Given the description of an element on the screen output the (x, y) to click on. 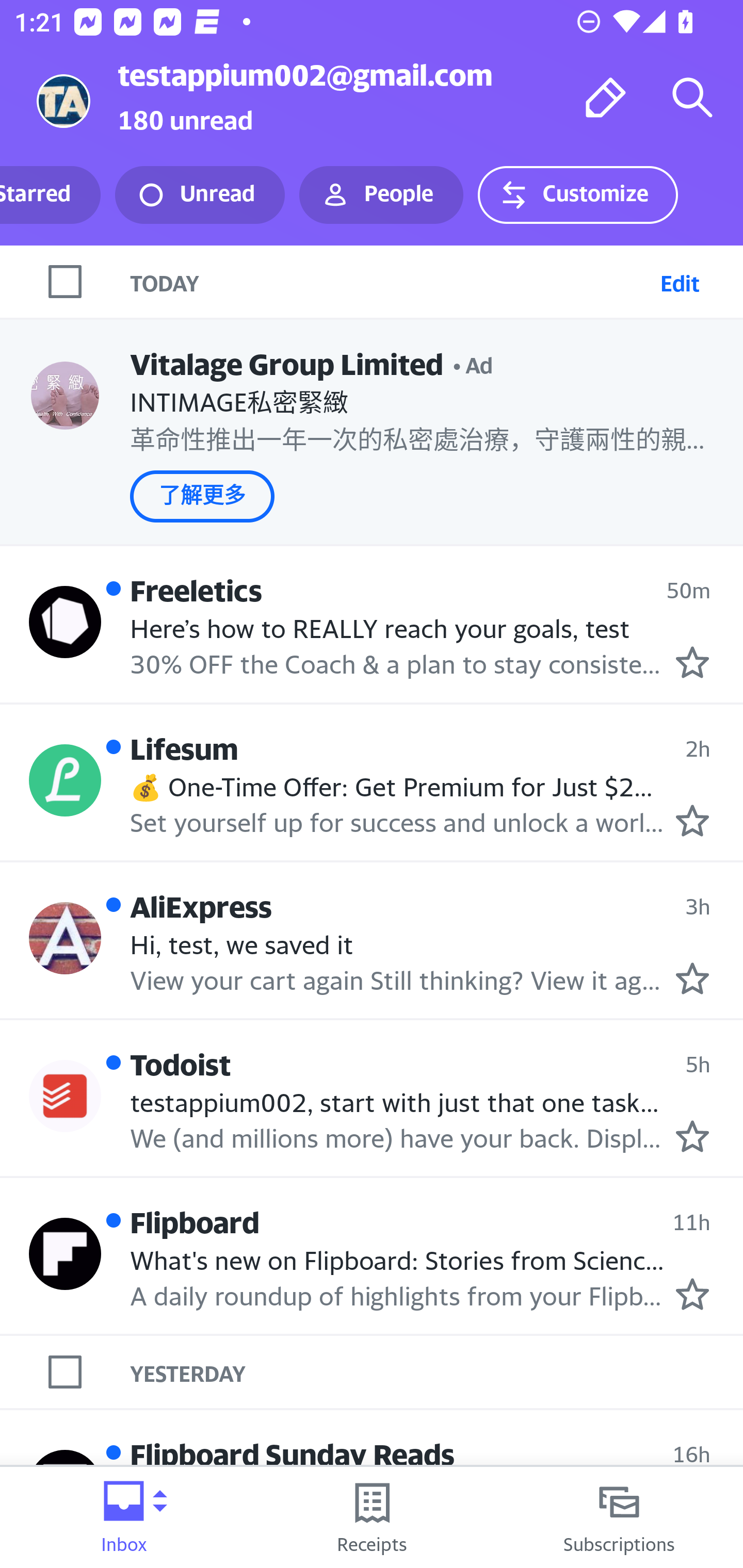
Compose (605, 97)
Search mail (692, 97)
Unread (199, 195)
People (381, 195)
Customize (577, 195)
TODAY (391, 281)
Edit Select emails (679, 281)
Profile
Freeletics (64, 622)
Mark as starred. (692, 662)
Profile
Lifesum (64, 780)
Mark as starred. (692, 820)
Profile
AliExpress (64, 937)
Mark as starred. (692, 978)
Profile
Todoist (64, 1095)
Mark as starred. (692, 1135)
Profile
Flipboard (64, 1254)
Mark as starred. (692, 1294)
YESTERDAY (436, 1371)
Inbox Folder picker (123, 1517)
Receipts (371, 1517)
Subscriptions (619, 1517)
